Given the description of an element on the screen output the (x, y) to click on. 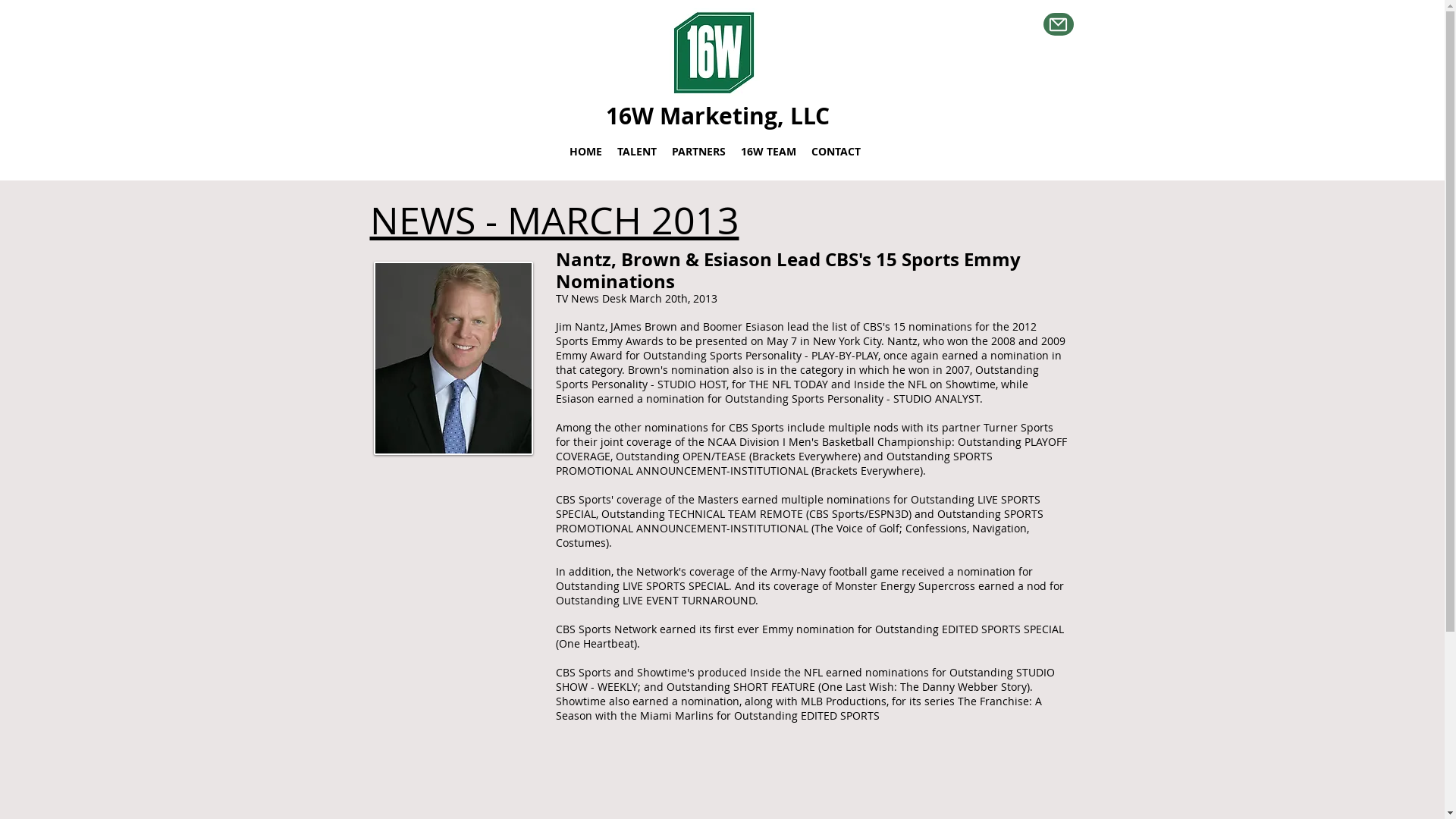
TALENT Element type: text (636, 151)
CONTACT Element type: text (835, 151)
PARTNERS Element type: text (698, 151)
HOME Element type: text (584, 151)
Boomer+Headshot.jpg Element type: hover (452, 358)
16W TEAM Element type: text (767, 151)
